Given the description of an element on the screen output the (x, y) to click on. 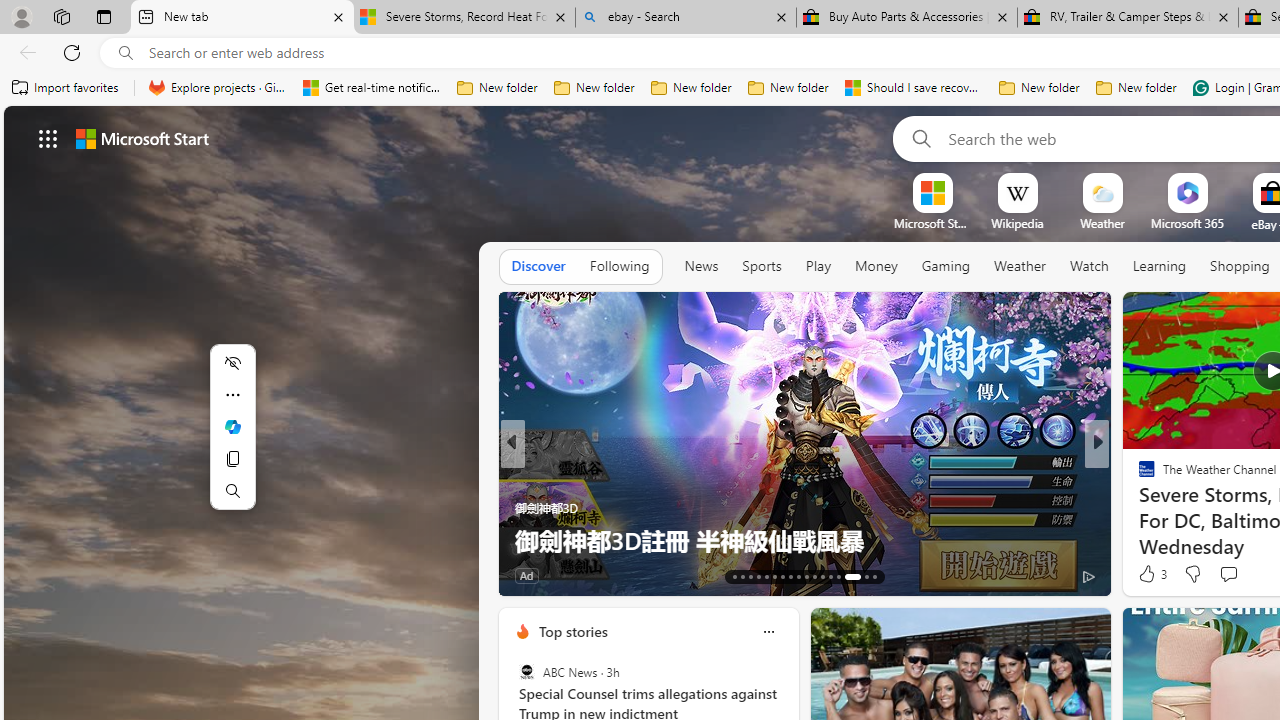
View comments 1 Comment (625, 574)
Close tab (1222, 16)
Money (876, 267)
Wikipedia (1017, 223)
View comments 8 Comment (1234, 574)
View comments 1 Comment (619, 575)
Following (619, 265)
Learning (1159, 265)
Gaming (945, 267)
Back (24, 52)
Microsoft start (142, 138)
Microsoft Start Sports (932, 223)
Import favorites (65, 88)
Mini menu on text selection (232, 439)
